Given the description of an element on the screen output the (x, y) to click on. 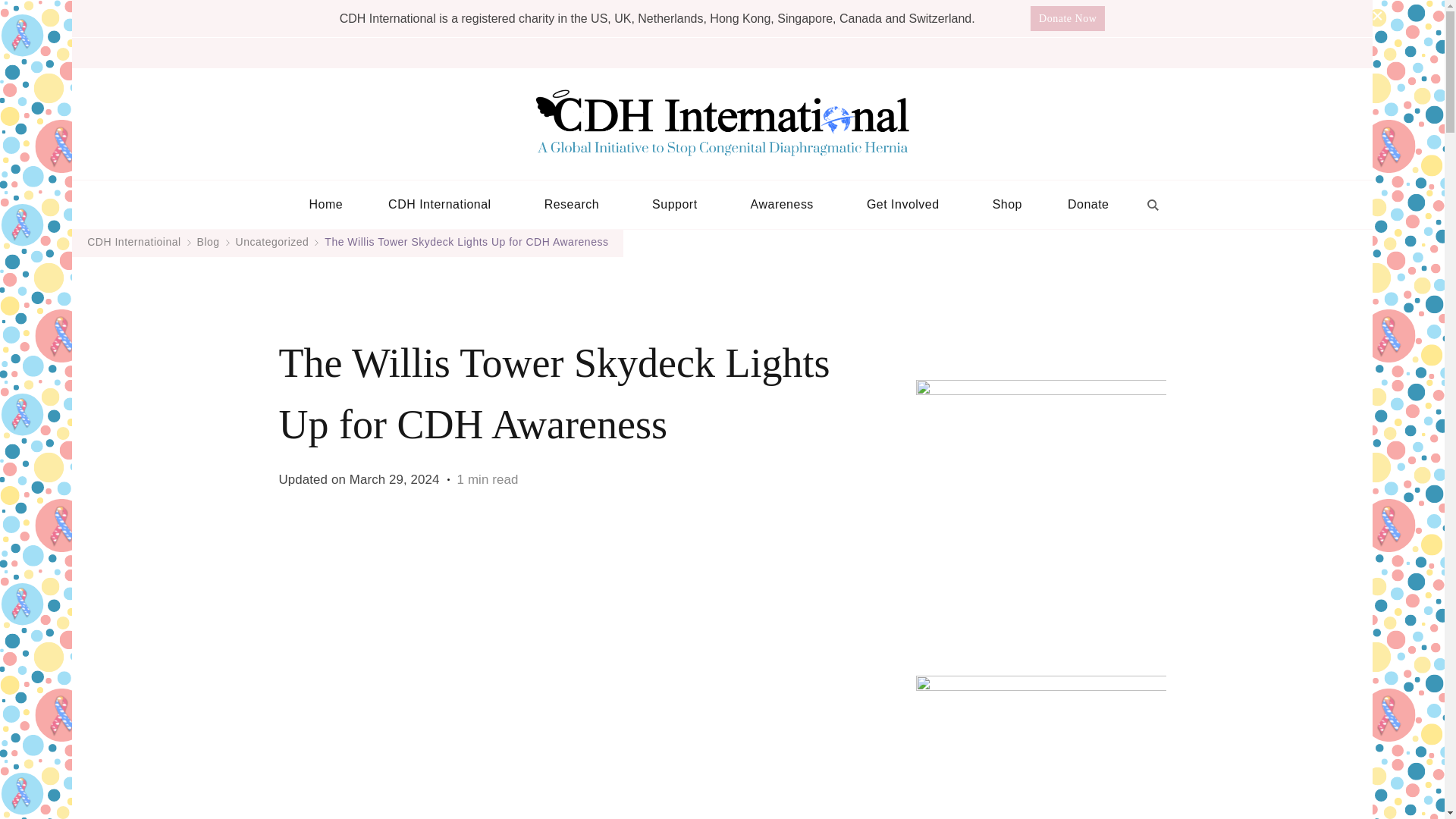
Your Donation Dollar (126, 429)
Non-Profit Accreditation (134, 461)
Events (115, 413)
Search (228, 176)
CDHi Medical Advisory Board (182, 318)
Anatomy of CDH (146, 684)
News (81, 381)
Real Transparency (147, 445)
CDH International (87, 254)
CDH Parent Reference Guide (178, 652)
Publications (99, 589)
Home (52, 238)
Close (24, 193)
About Us (92, 270)
Our Staff (122, 350)
